Given the description of an element on the screen output the (x, y) to click on. 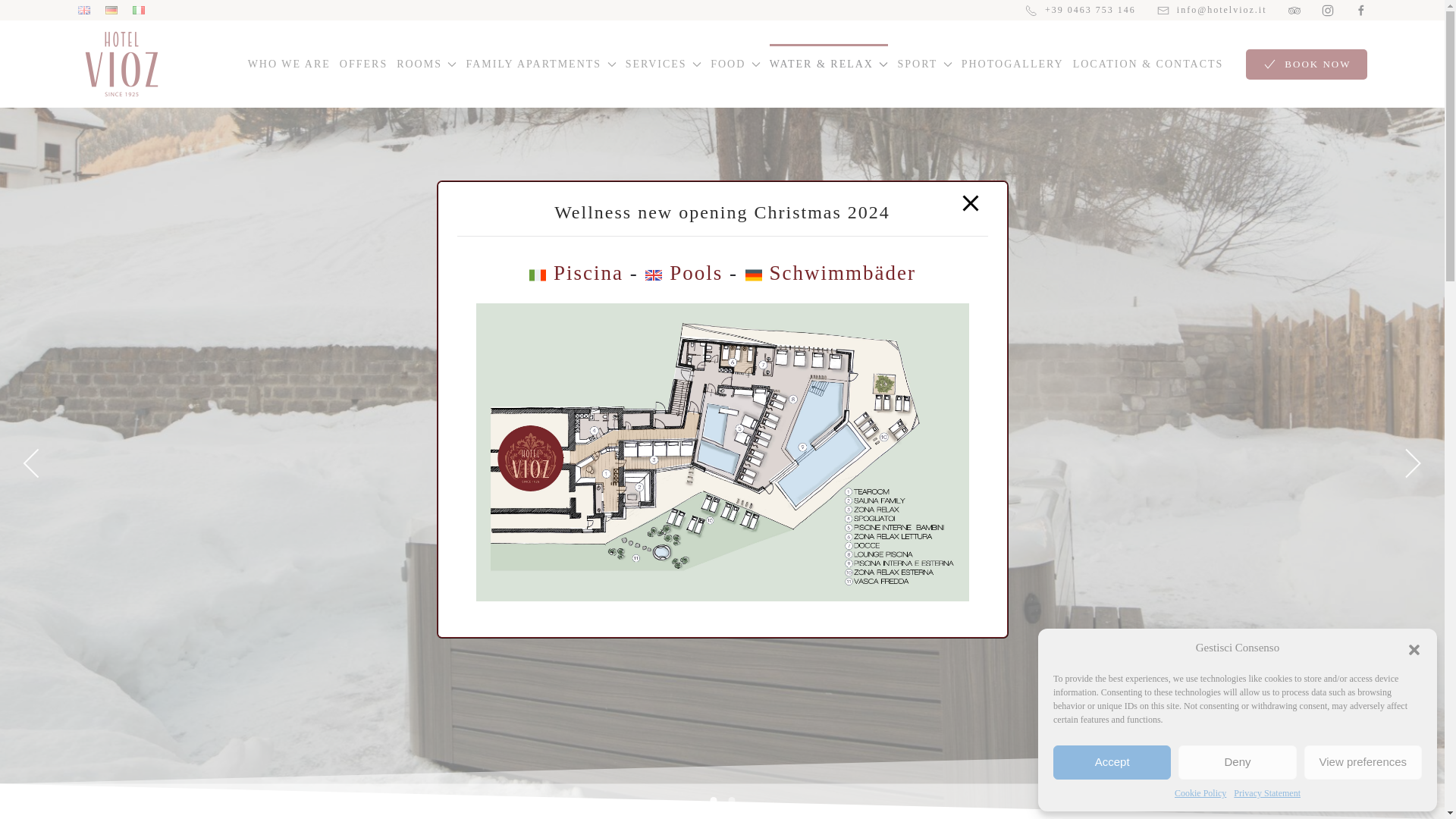
Deny (1236, 762)
View preferences (1363, 762)
Privacy Statement (1266, 793)
Cookie Policy (1199, 793)
Accept (1111, 762)
